Given the description of an element on the screen output the (x, y) to click on. 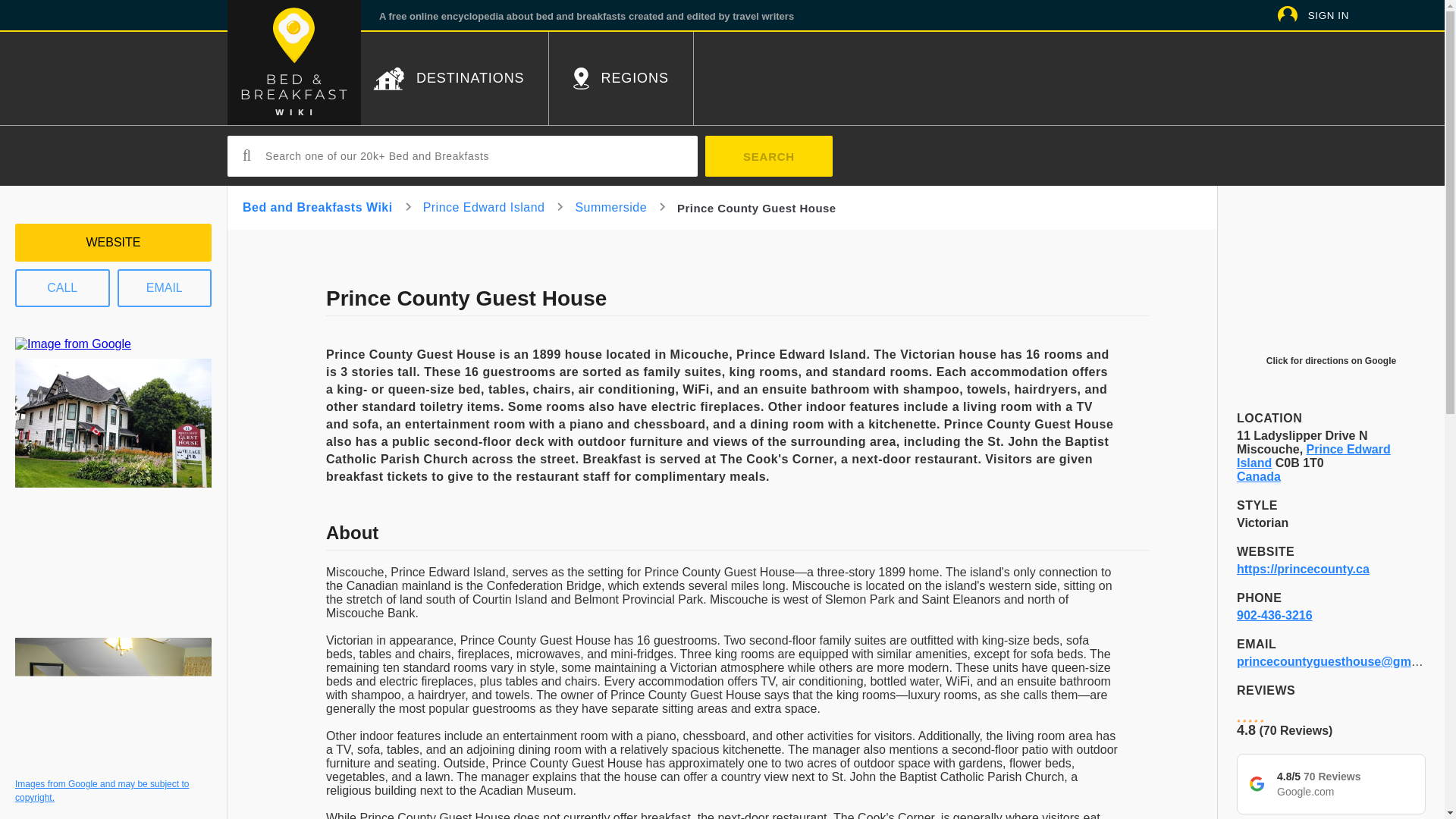
Prince Edward Island (1313, 456)
Bed and Breakfasts Wiki (318, 206)
Canada (1258, 476)
Summerside (610, 206)
CALL (62, 288)
Prince Edward Island (483, 206)
EMAIL (163, 288)
DESTINATIONS (448, 78)
SEARCH (768, 155)
REGIONS (620, 78)
